Given the description of an element on the screen output the (x, y) to click on. 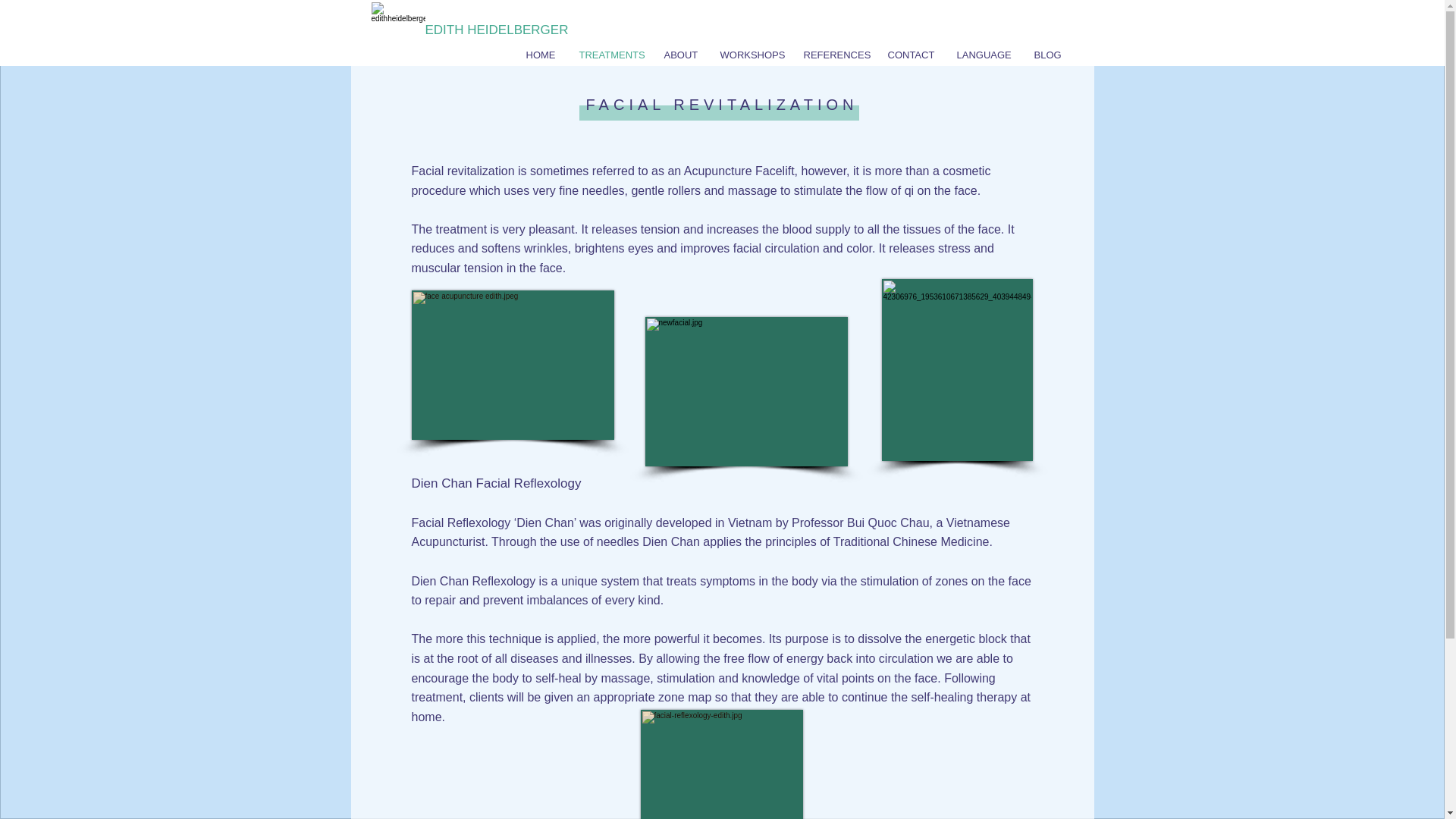
ABOUT (679, 54)
EDITH HEIDELBERGER (496, 29)
REFERENCES (834, 54)
TREATMENTS (609, 54)
WORKSHOPS (749, 54)
CONTACT (910, 54)
HOME (540, 54)
BLOG (1046, 54)
LANGUAGE (983, 54)
